Given the description of an element on the screen output the (x, y) to click on. 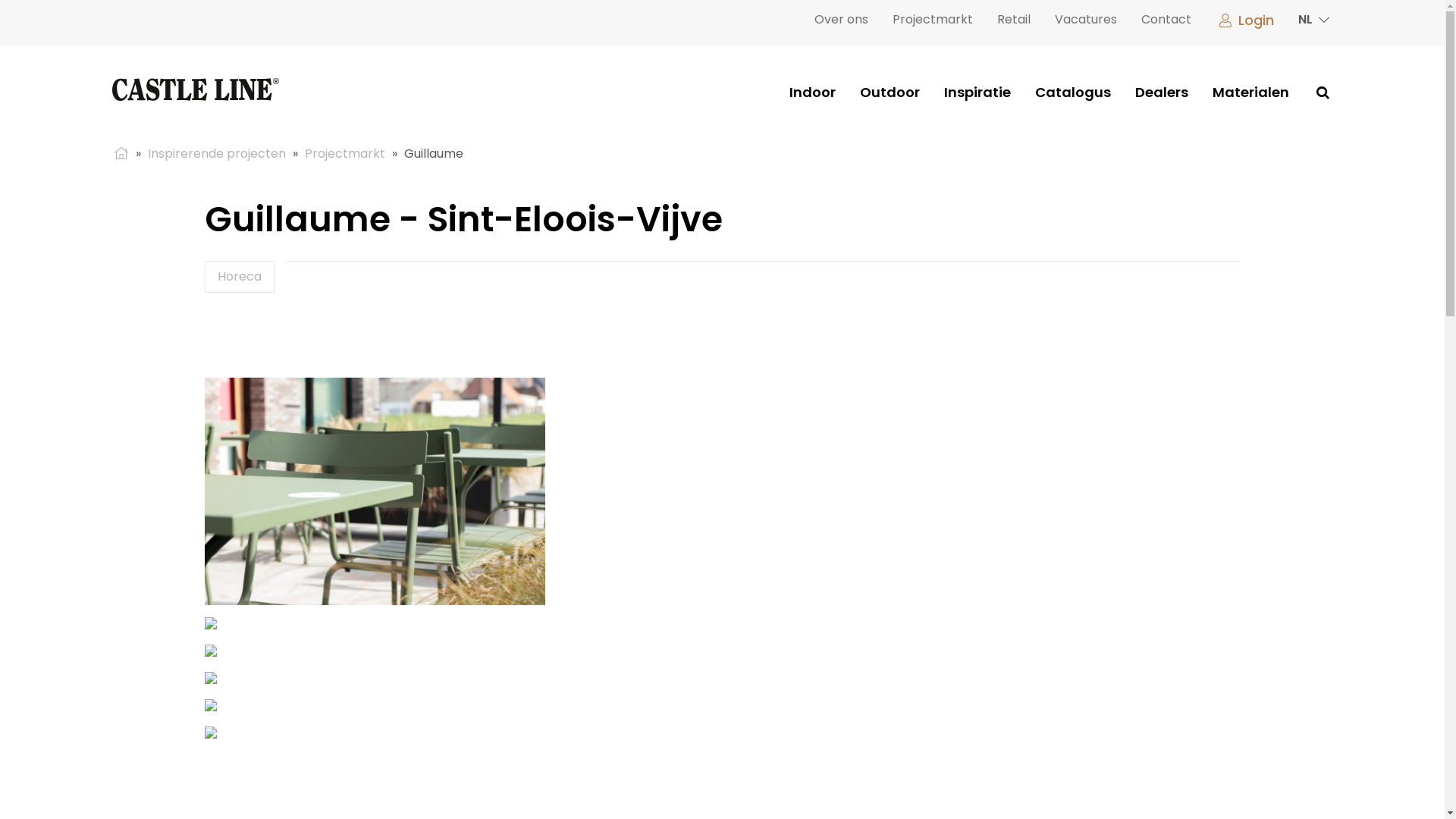
Inspirerende projecten Element type: text (216, 153)
Projectmarkt Element type: text (932, 19)
Indoor Element type: text (812, 91)
Retail Element type: text (1013, 19)
Outdoor Element type: text (889, 91)
Materialen Element type: text (1250, 91)
Over ons Element type: text (841, 19)
Vacatures Element type: text (1085, 19)
Contact Element type: text (1166, 19)
Catalogus Element type: text (1072, 91)
Inspiratie Element type: text (977, 91)
Projectmarkt Element type: text (344, 153)
Dealers Element type: text (1161, 91)
Login Element type: text (1244, 19)
